Given the description of an element on the screen output the (x, y) to click on. 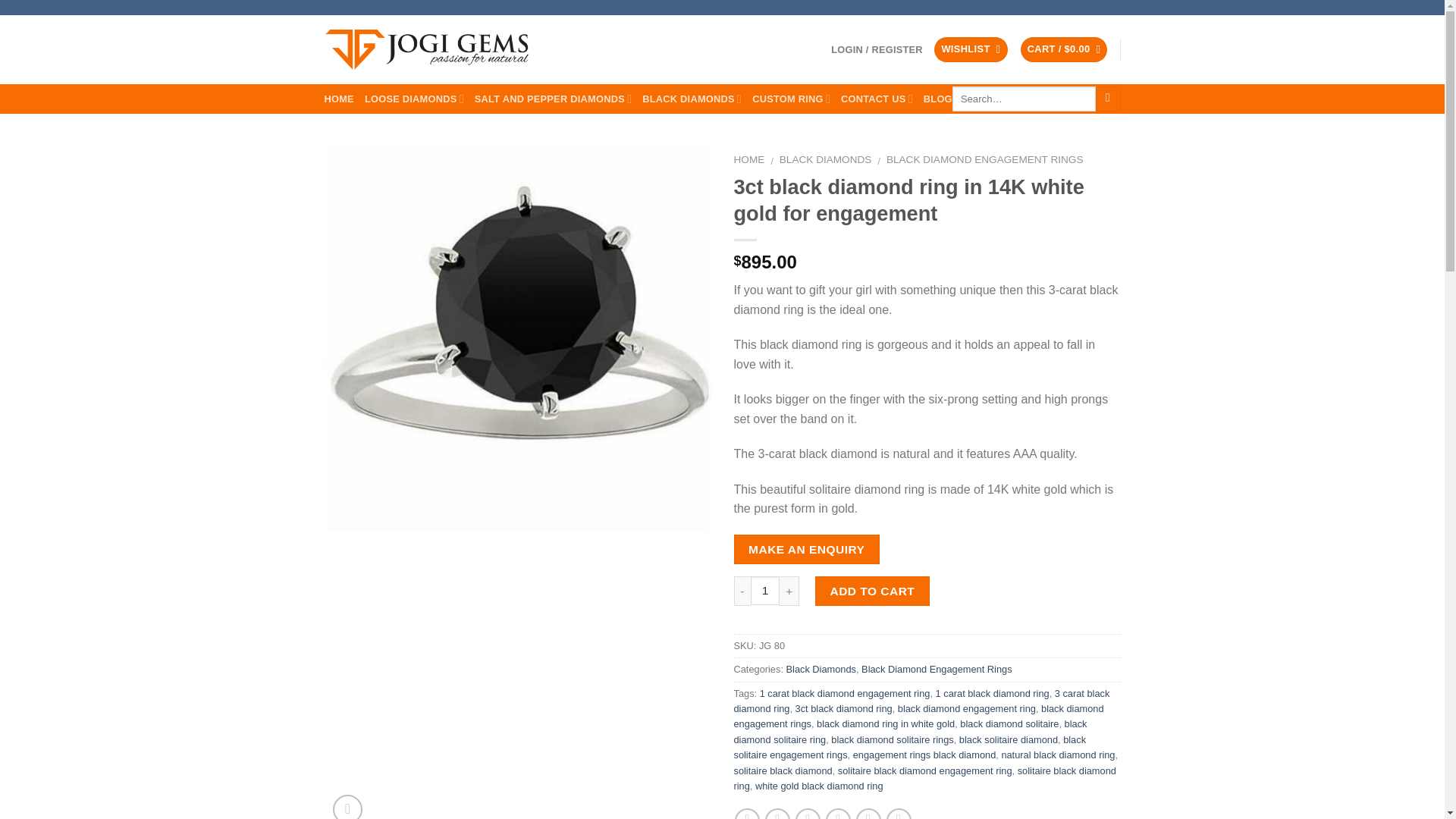
Cart (1064, 49)
BLACK DIAMONDS (691, 98)
WISHLIST (970, 49)
1 (765, 591)
LOOSE DIAMONDS (414, 98)
Zoom (347, 806)
HOME (338, 99)
SALT AND PEPPER DIAMONDS (552, 98)
